Given the description of an element on the screen output the (x, y) to click on. 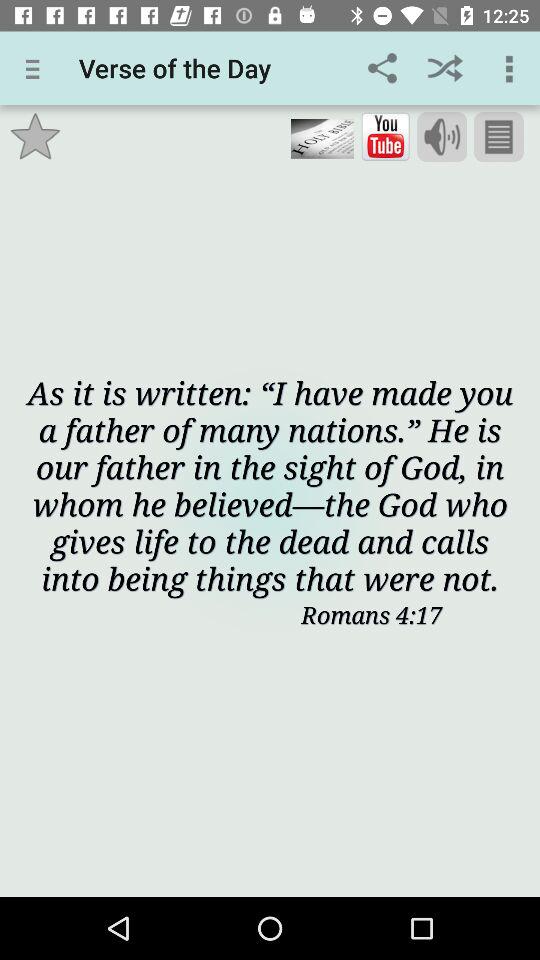
click the item to the right of the verse of the app (381, 67)
